Given the description of an element on the screen output the (x, y) to click on. 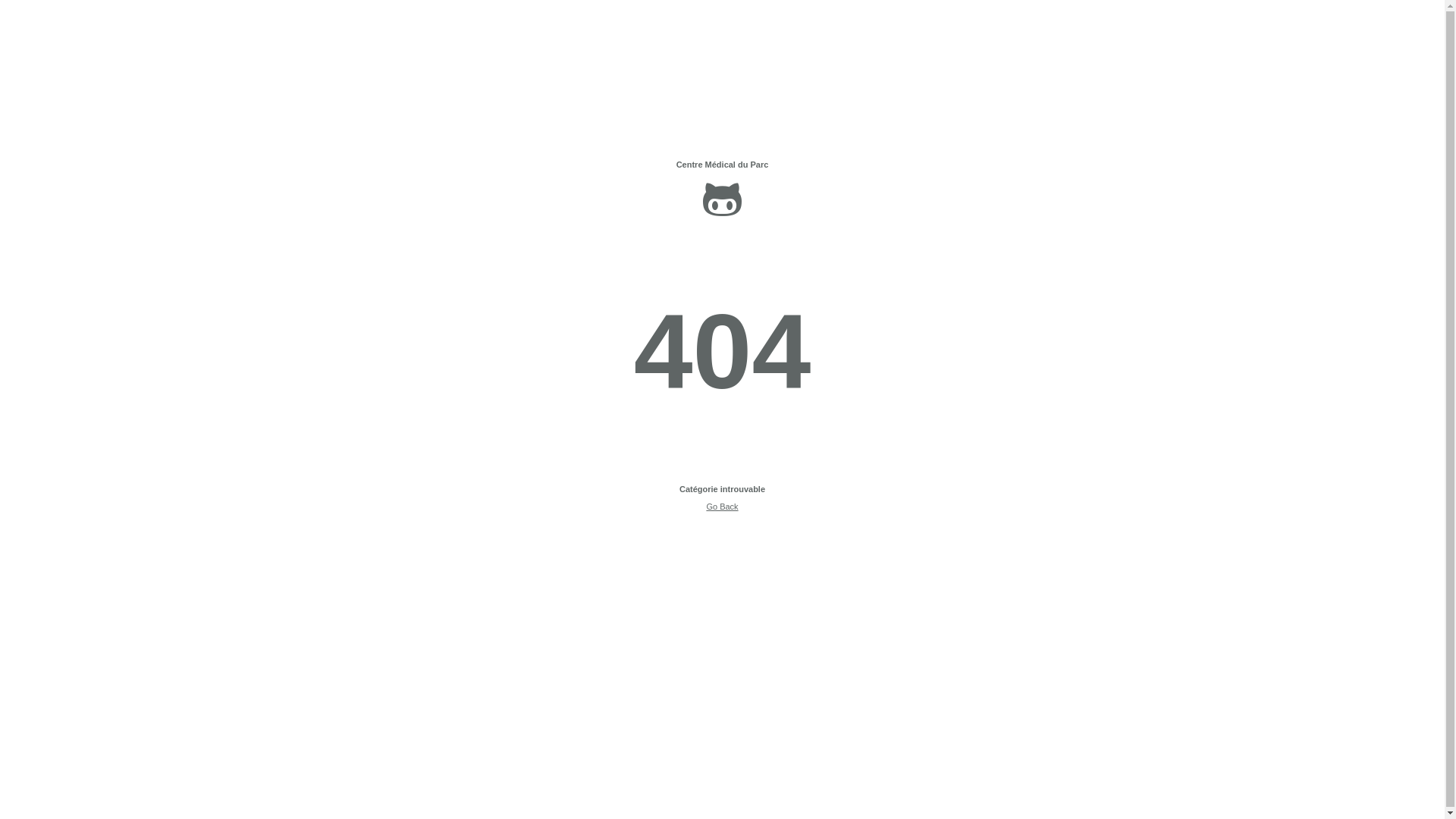
Go Back Element type: text (721, 506)
